Given the description of an element on the screen output the (x, y) to click on. 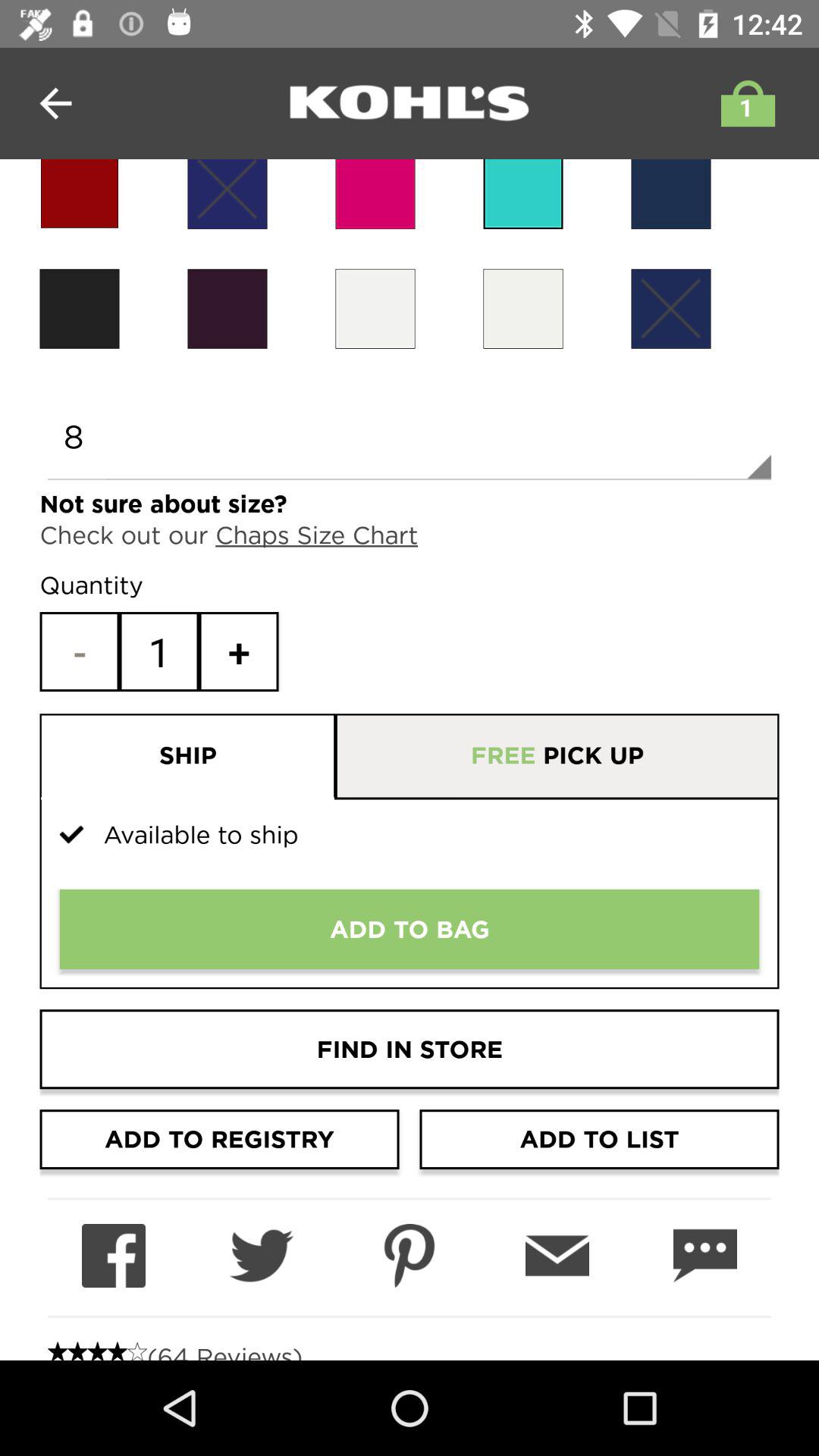
share with facebook (113, 1255)
